Given the description of an element on the screen output the (x, y) to click on. 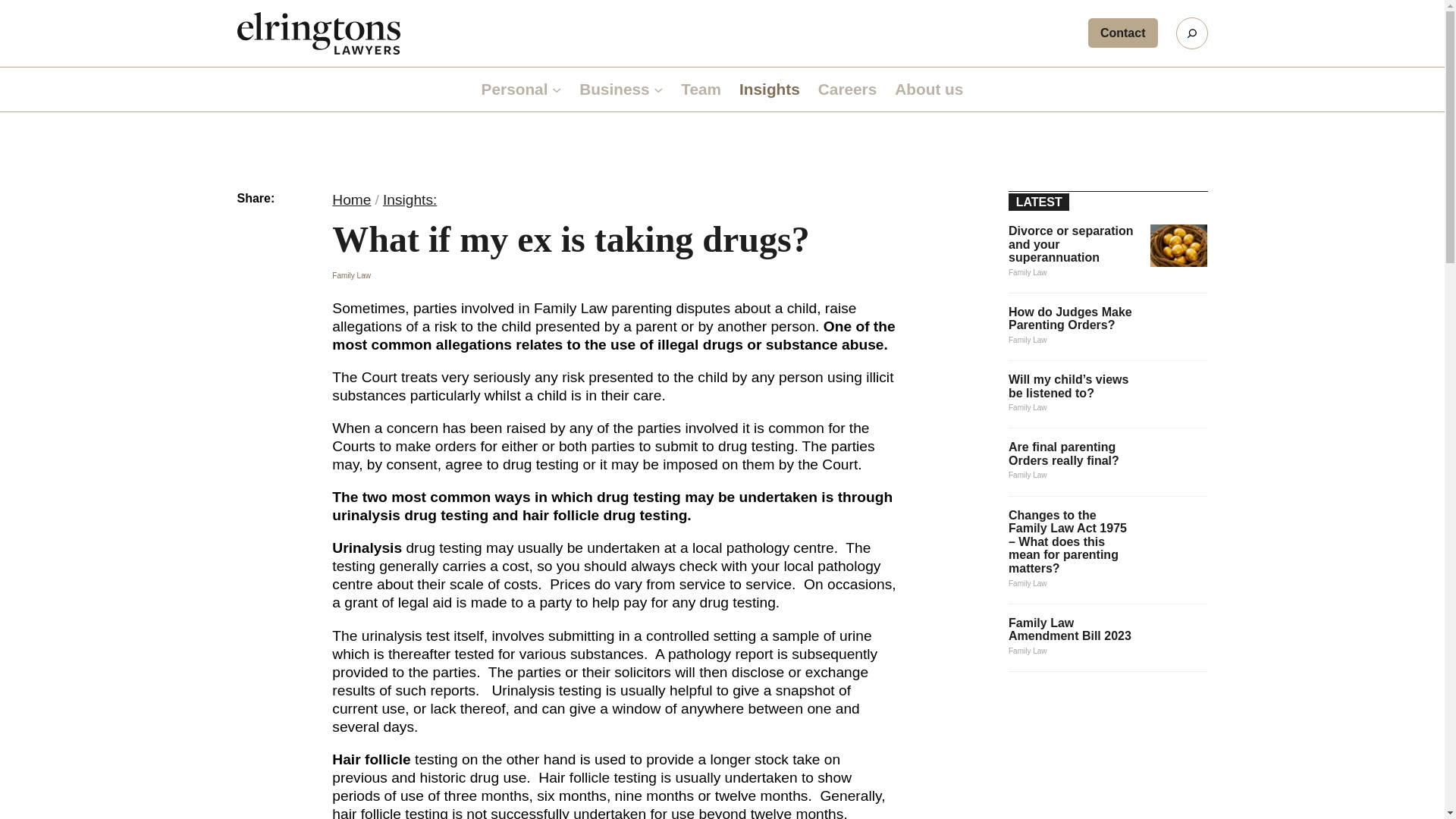
Personal (514, 89)
Business (614, 89)
Team (700, 89)
Search (1190, 33)
Contact (1122, 32)
